Given the description of an element on the screen output the (x, y) to click on. 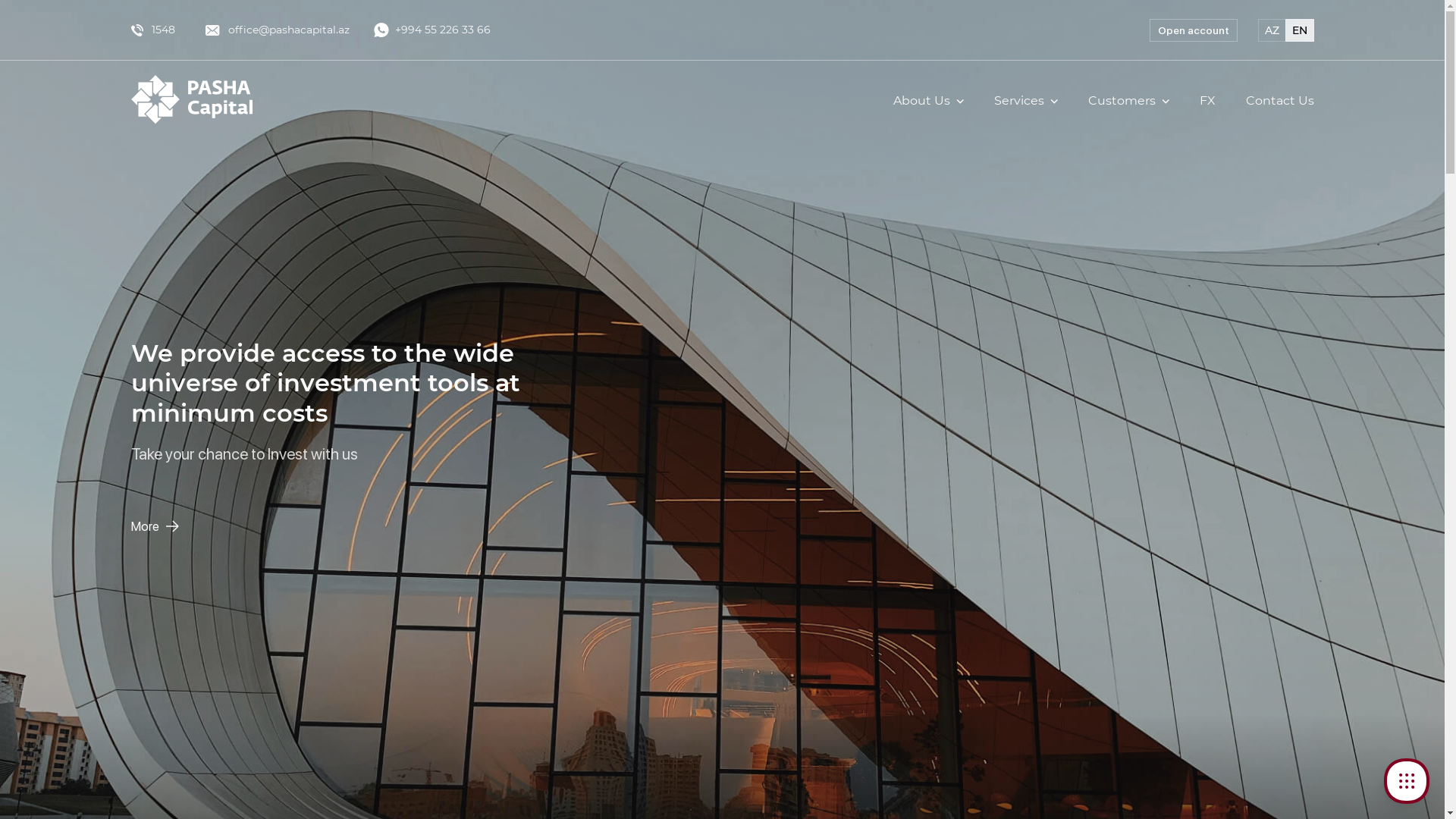
EN Element type: text (1298, 29)
Services Element type: text (1025, 99)
Customers Element type: text (1127, 99)
+994 55 226 33 66 Element type: text (430, 29)
office@pashacapital.az Element type: text (276, 29)
Contact Us Element type: text (1279, 99)
Open account Element type: text (1193, 29)
FX Element type: text (1207, 99)
AZ Element type: text (1270, 29)
1548 Element type: text (152, 29)
More Element type: text (154, 525)
About Us Element type: text (928, 99)
